Given the description of an element on the screen output the (x, y) to click on. 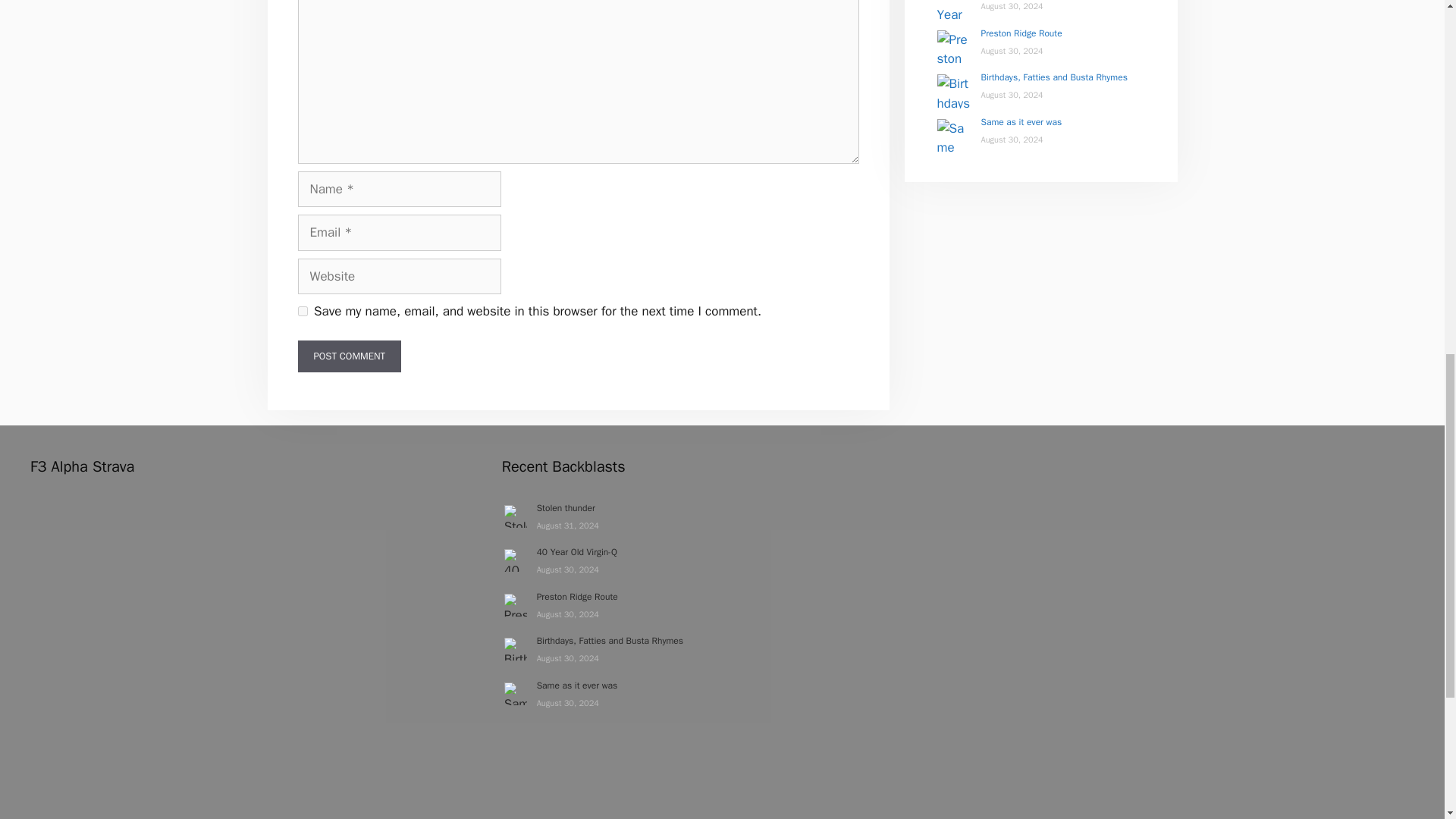
Post Comment (349, 356)
Post Comment (349, 356)
yes (302, 311)
